Given the description of an element on the screen output the (x, y) to click on. 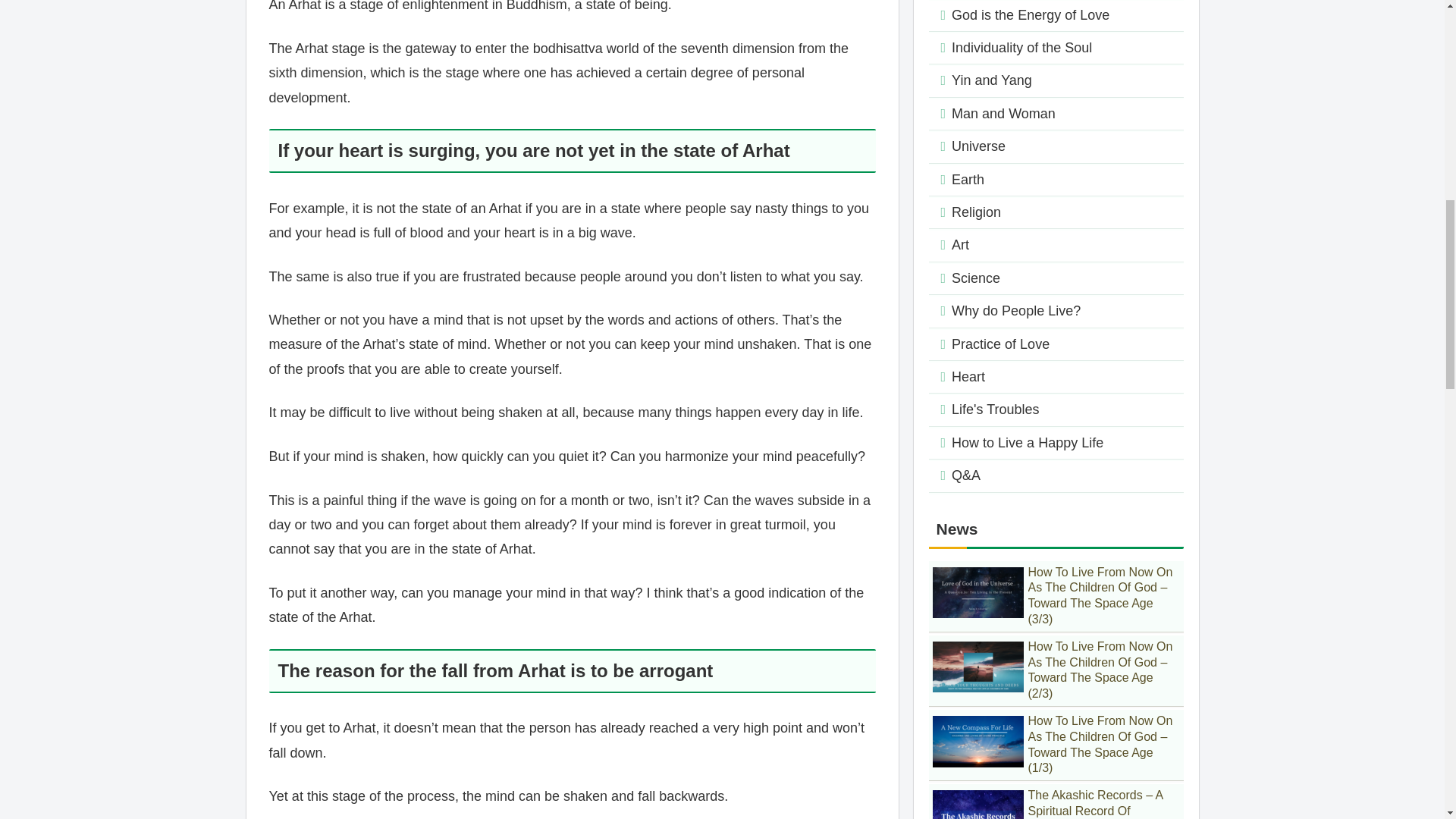
God is the Energy of Love (1055, 15)
